Given the description of an element on the screen output the (x, y) to click on. 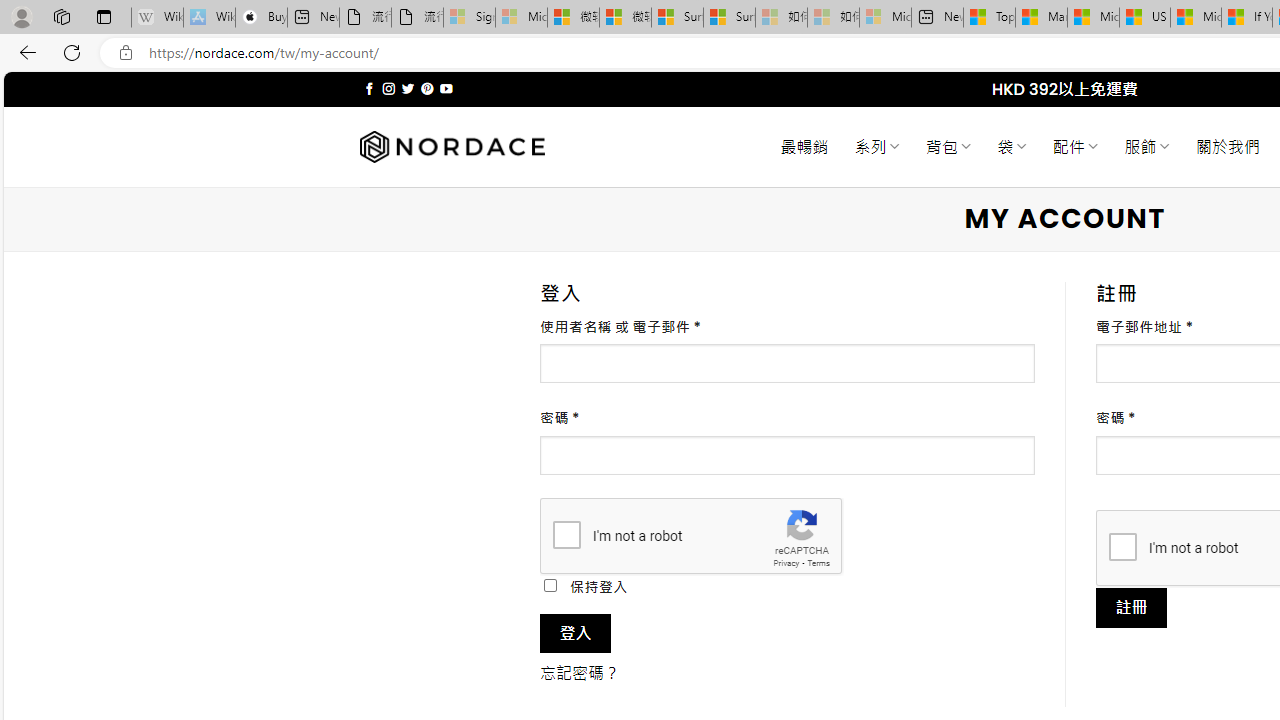
I'm not a robot (1122, 546)
Terms (818, 562)
